Given the description of an element on the screen output the (x, y) to click on. 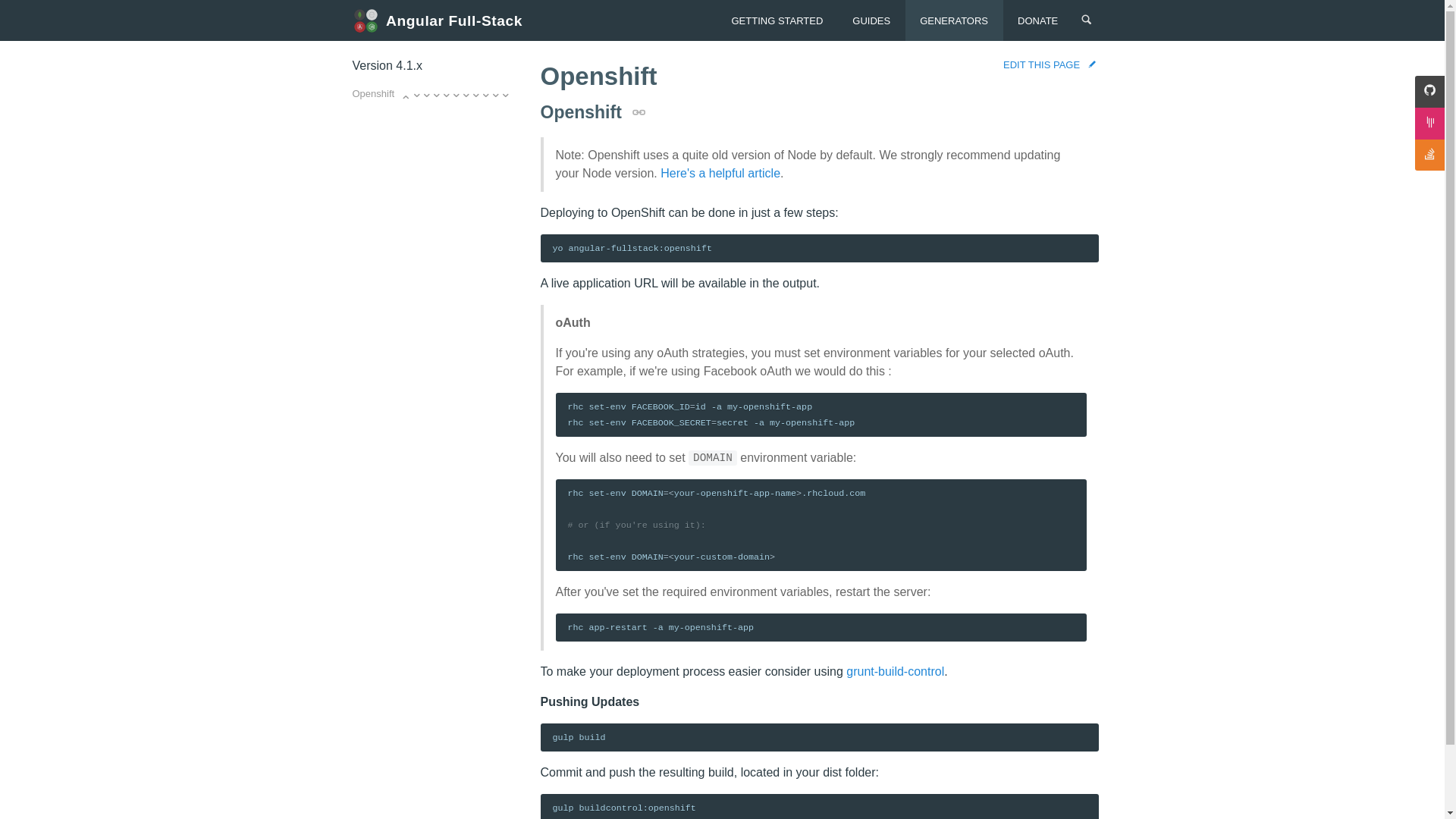
DONATE (1038, 20)
GUIDES (871, 20)
Angular Full-Stack (440, 20)
GETTING STARTED (777, 20)
GENERATORS (954, 20)
